Given the description of an element on the screen output the (x, y) to click on. 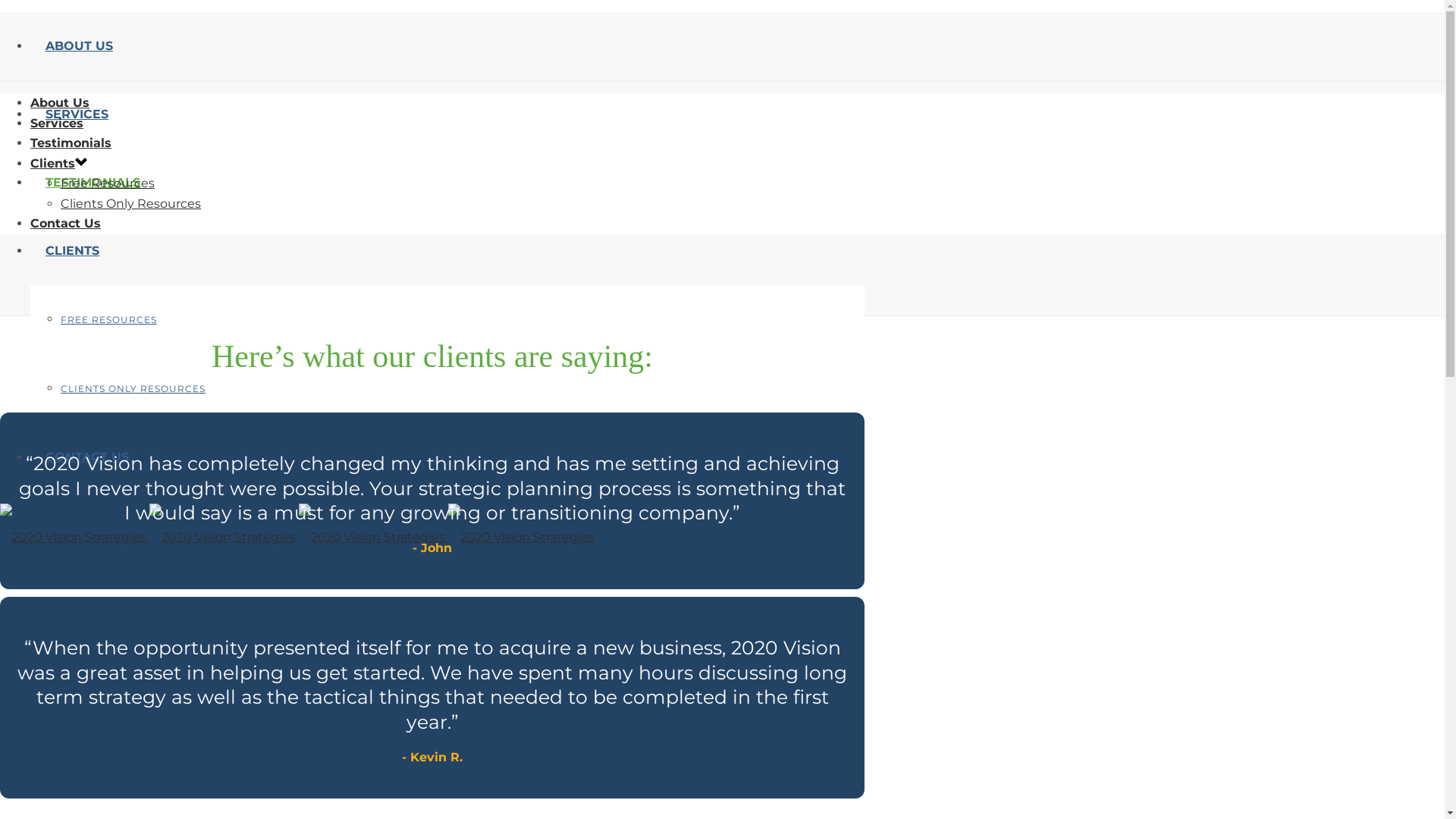
2020 Vision Strategies Element type: hover (297, 537)
Clients Element type: text (52, 163)
CONTACT US Element type: text (87, 456)
2020 Vision Strategies Element type: hover (222, 537)
2020 Vision Strategies Element type: hover (371, 537)
TESTIMONIALS Element type: text (92, 182)
FREE RESOURCES Element type: text (108, 319)
SERVICES Element type: text (76, 113)
About Us Element type: text (59, 102)
Services Element type: text (56, 123)
Testimonials Element type: text (70, 142)
Clients Only Resources Element type: text (130, 203)
Free Resources Element type: text (107, 182)
ABOUT US Element type: text (79, 45)
2020 Vision Strategies Element type: hover (521, 537)
2020 Vision Strategies Element type: hover (73, 537)
CLIENTS Element type: text (72, 250)
Contact Us Element type: text (65, 223)
CLIENTS ONLY RESOURCES Element type: text (132, 388)
